Given the description of an element on the screen output the (x, y) to click on. 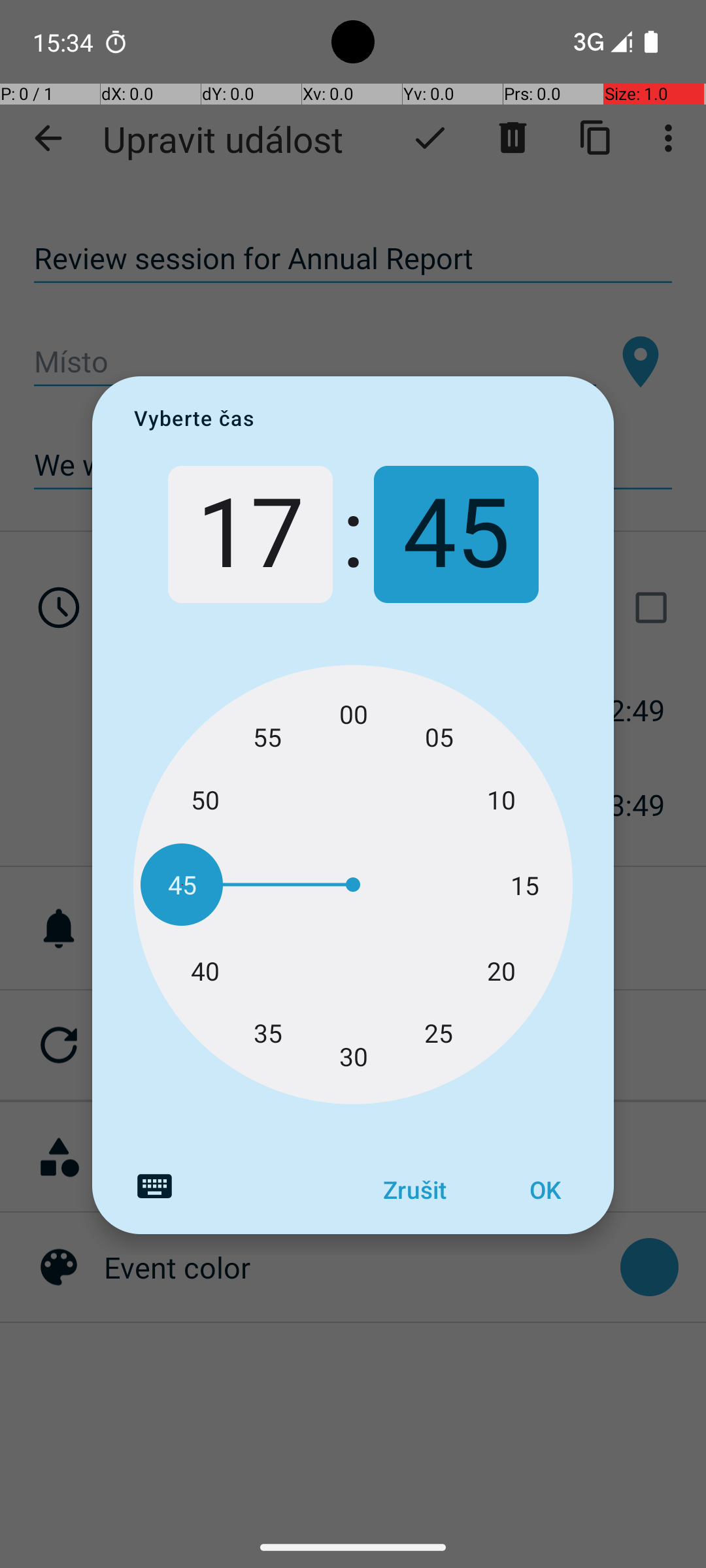
Chcete-li zadat čas, přepněte na režim textu. Element type: android.widget.Button (154, 1186)
